Given the description of an element on the screen output the (x, y) to click on. 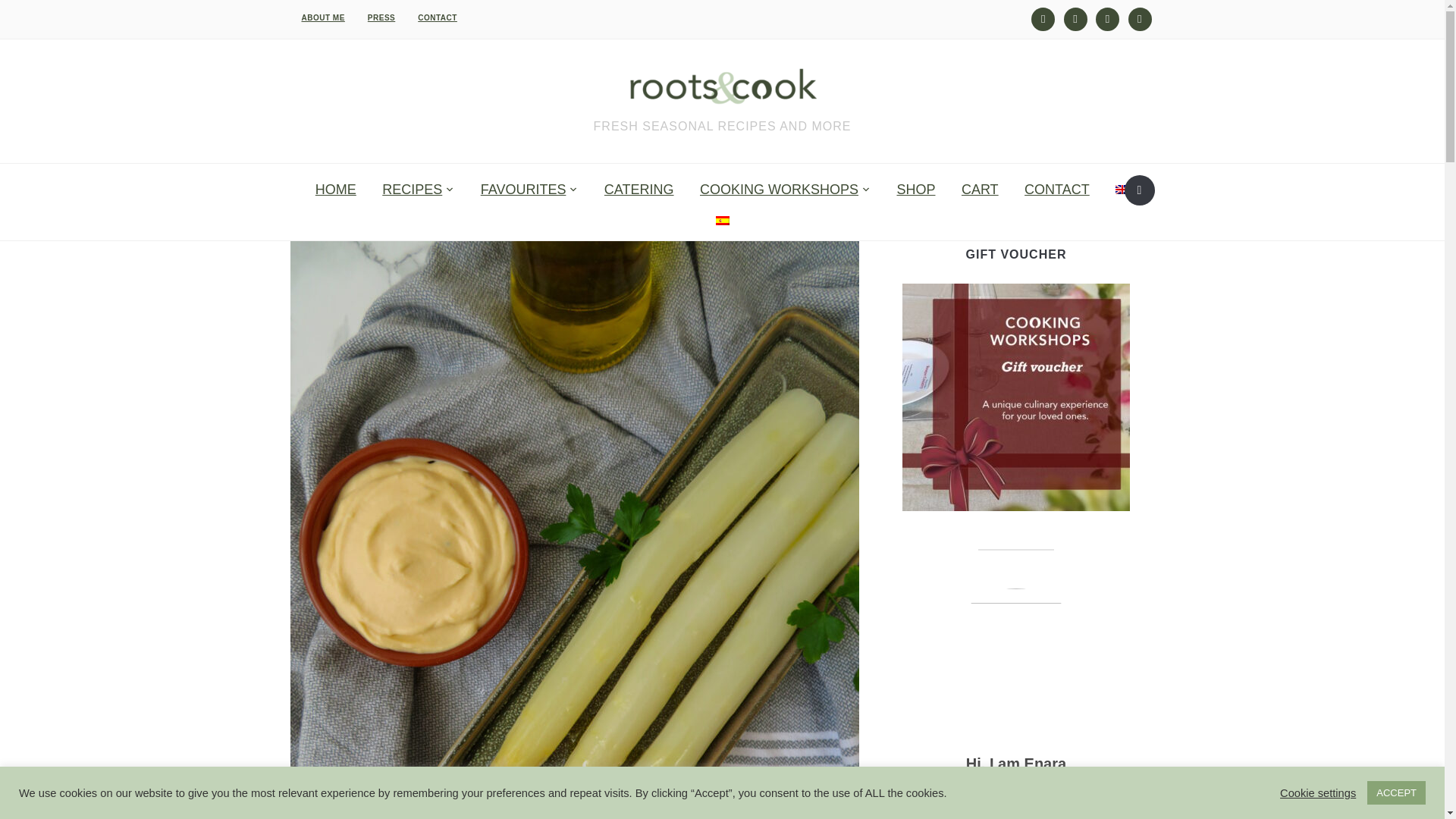
Facebook (1139, 18)
CONTACT (437, 17)
Instagram (1042, 18)
Facebook (1139, 18)
Pinterest (1107, 18)
ABOUT ME (322, 17)
Youtube (1075, 18)
Instagram (1042, 18)
PRESS (381, 17)
Default Label (1107, 18)
